Given the description of an element on the screen output the (x, y) to click on. 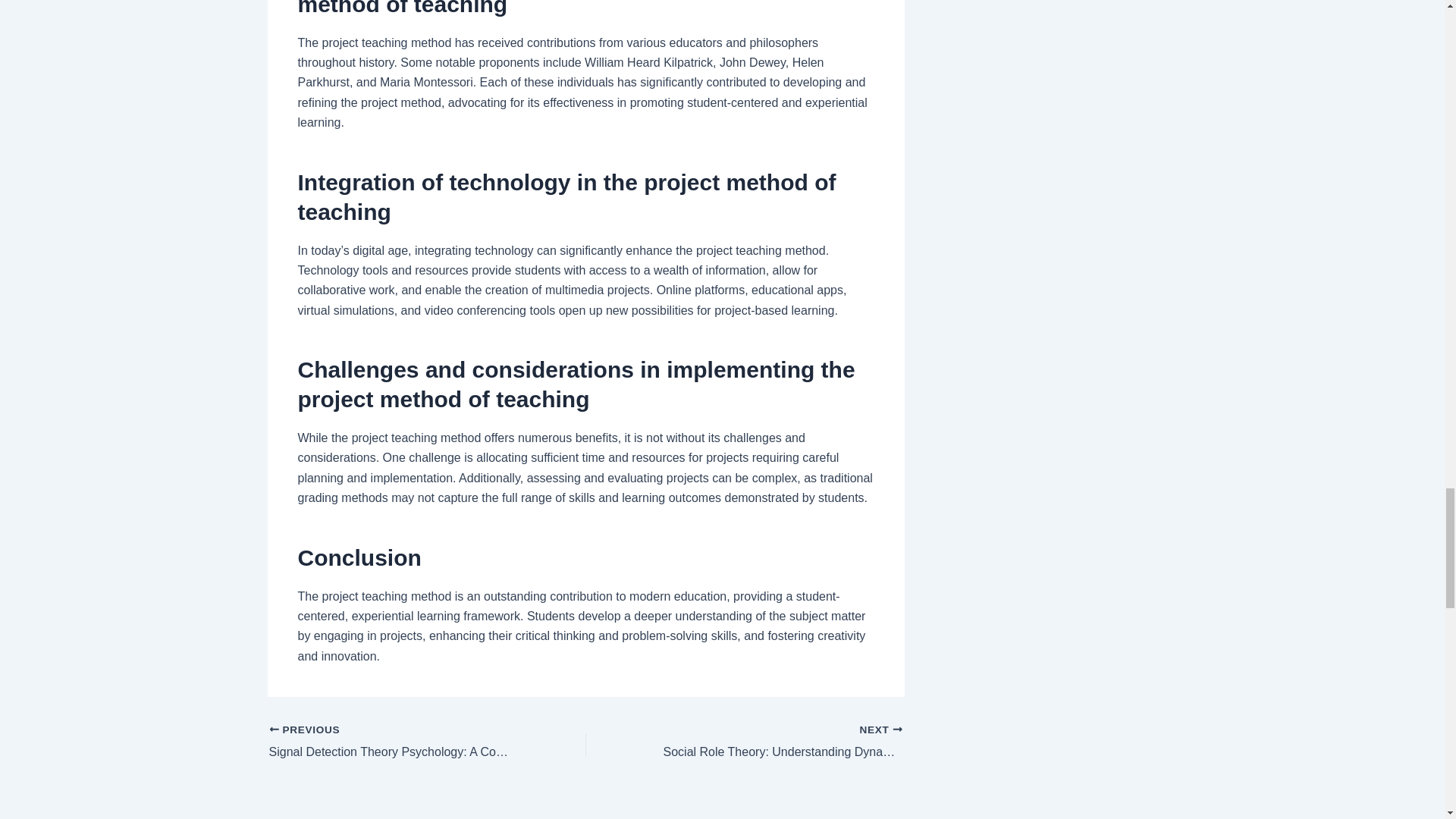
Signal Detection Theory Psychology: A Comprehensive Guide (394, 742)
